Given the description of an element on the screen output the (x, y) to click on. 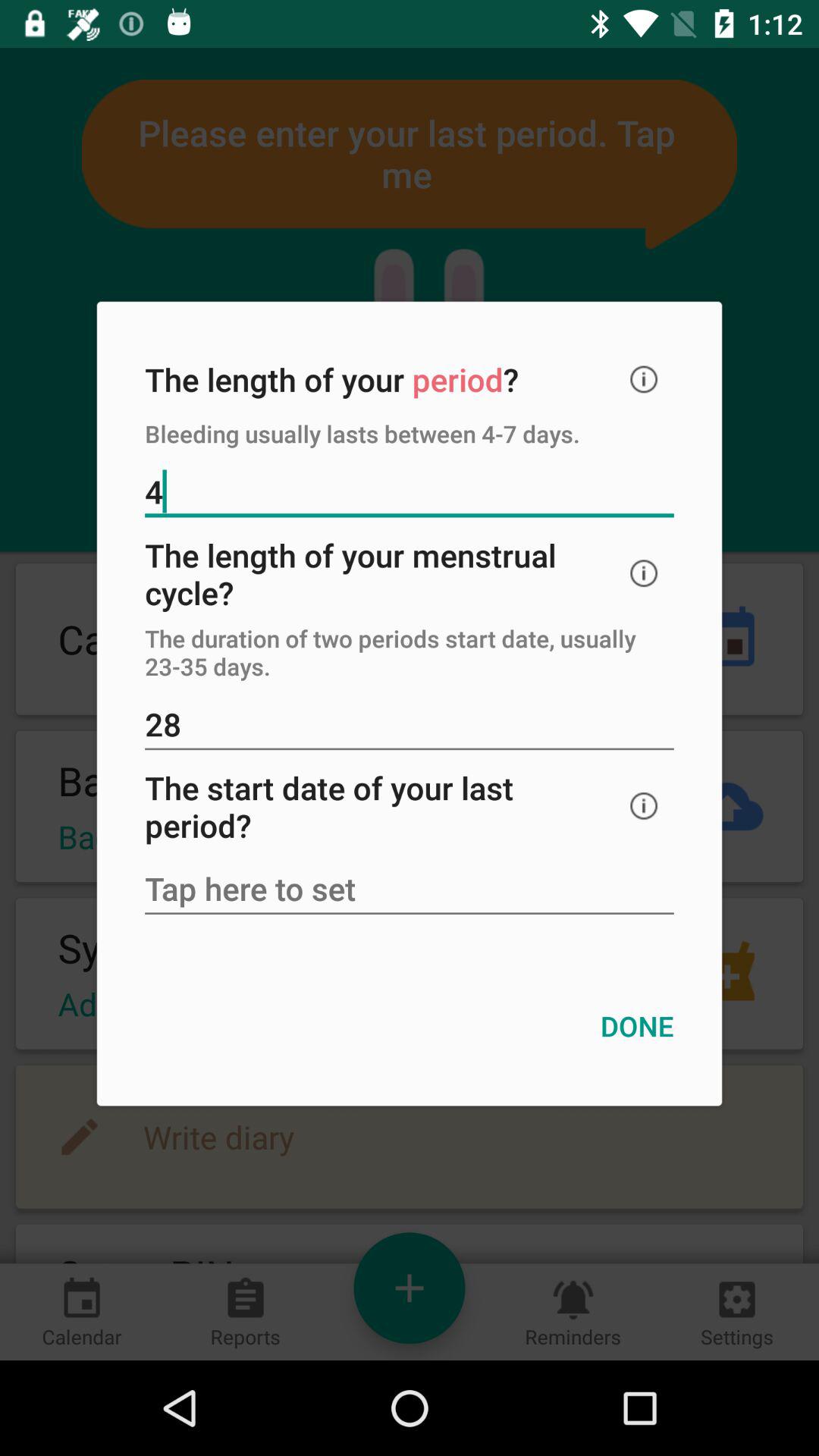
see info (643, 379)
